Given the description of an element on the screen output the (x, y) to click on. 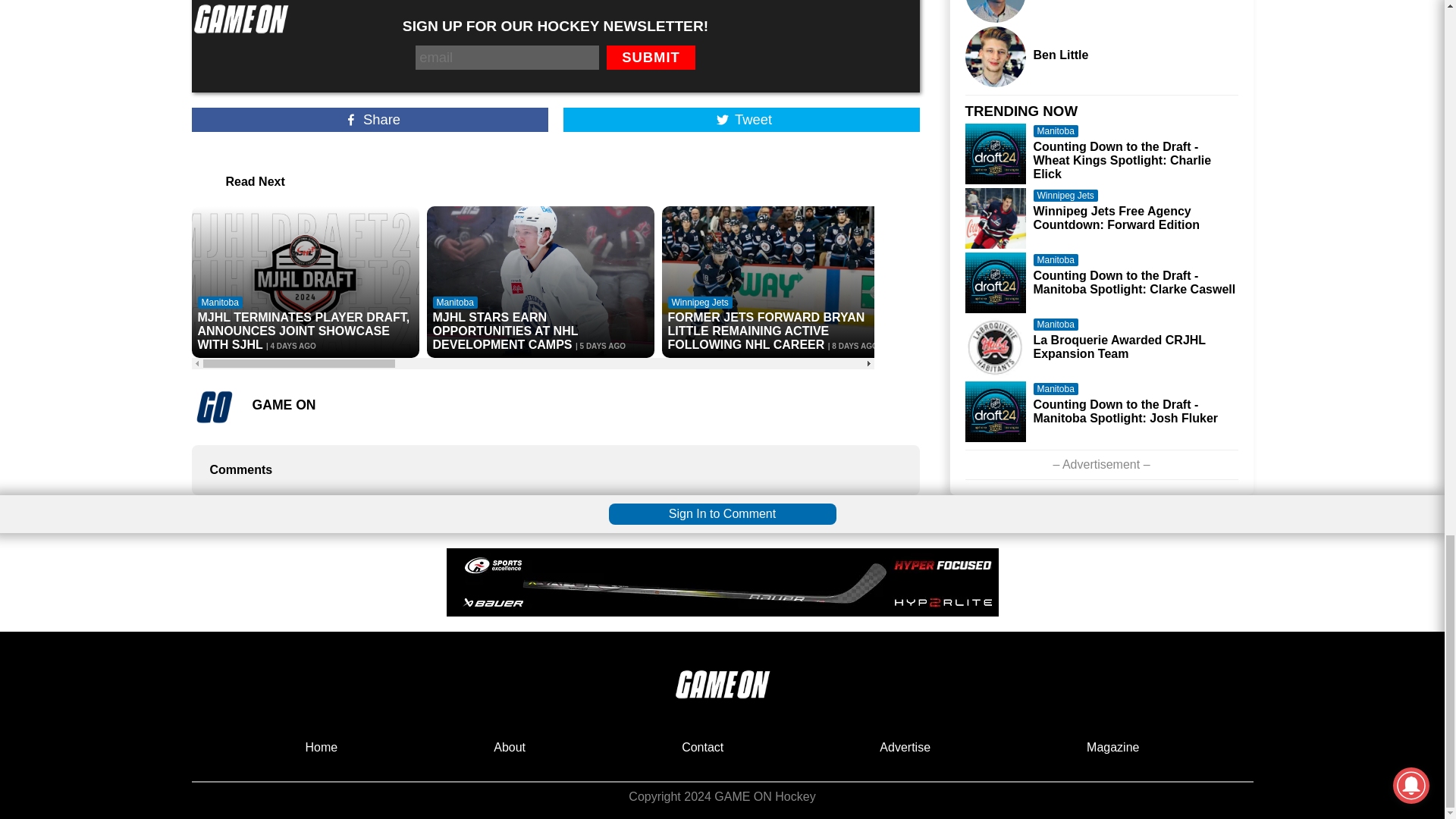
Share (368, 119)
Tweet (740, 119)
SUBMIT (651, 57)
